Given the description of an element on the screen output the (x, y) to click on. 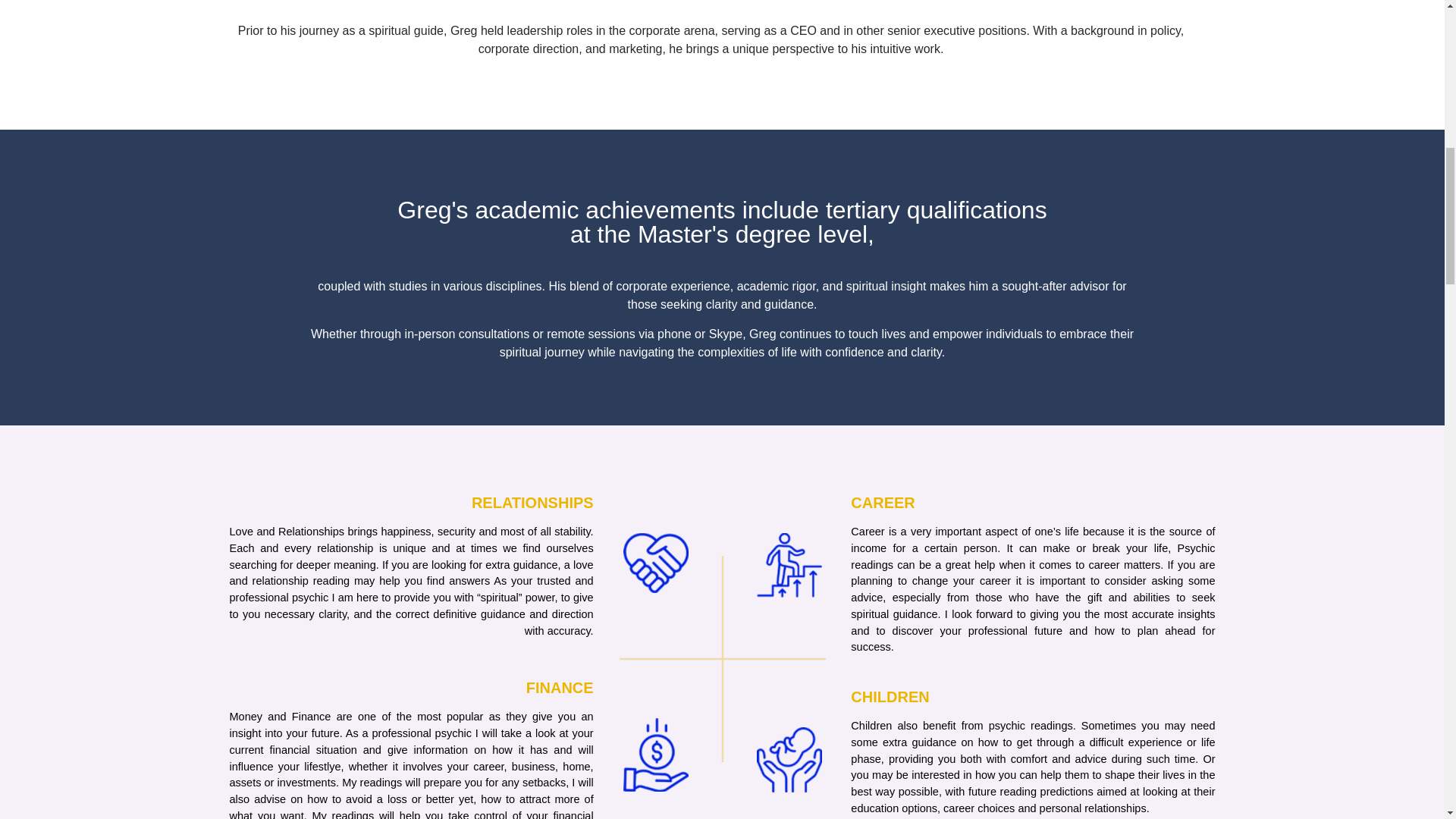
career-promotion (789, 759)
pediatrics (789, 565)
relationship (655, 562)
